Given the description of an element on the screen output the (x, y) to click on. 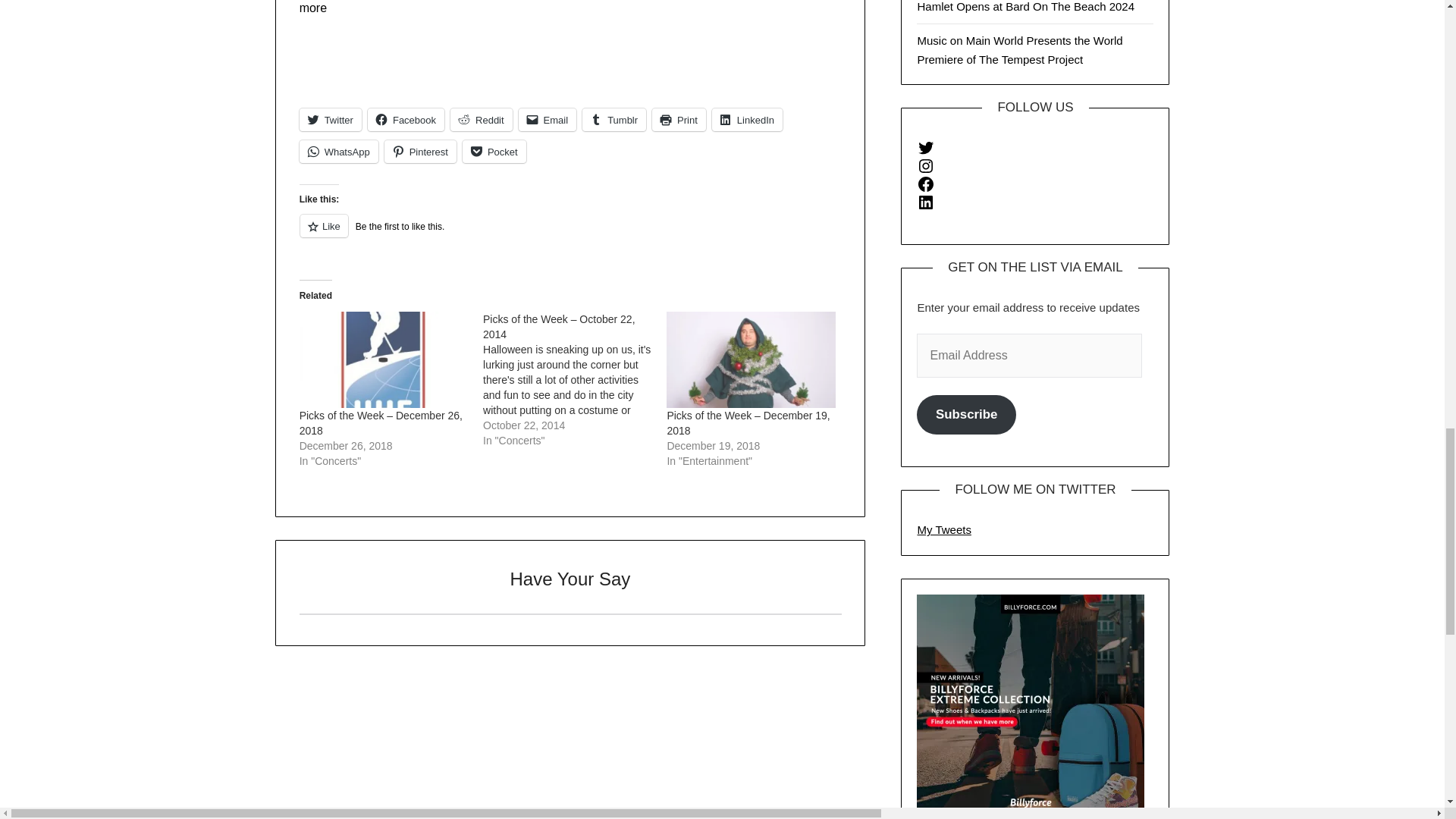
Click to share on Facebook (406, 119)
Pinterest (420, 151)
Facebook (406, 119)
Click to print (679, 119)
Click to share on LinkedIn (747, 119)
Twitter (330, 119)
Click to email a link to a friend (547, 119)
Click to share on Pocket (494, 151)
Click to share on Twitter (330, 119)
Like or Reblog (570, 234)
Print (679, 119)
Click to share on Pinterest (420, 151)
WhatsApp (338, 151)
LinkedIn (747, 119)
Click to share on Tumblr (614, 119)
